Given the description of an element on the screen output the (x, y) to click on. 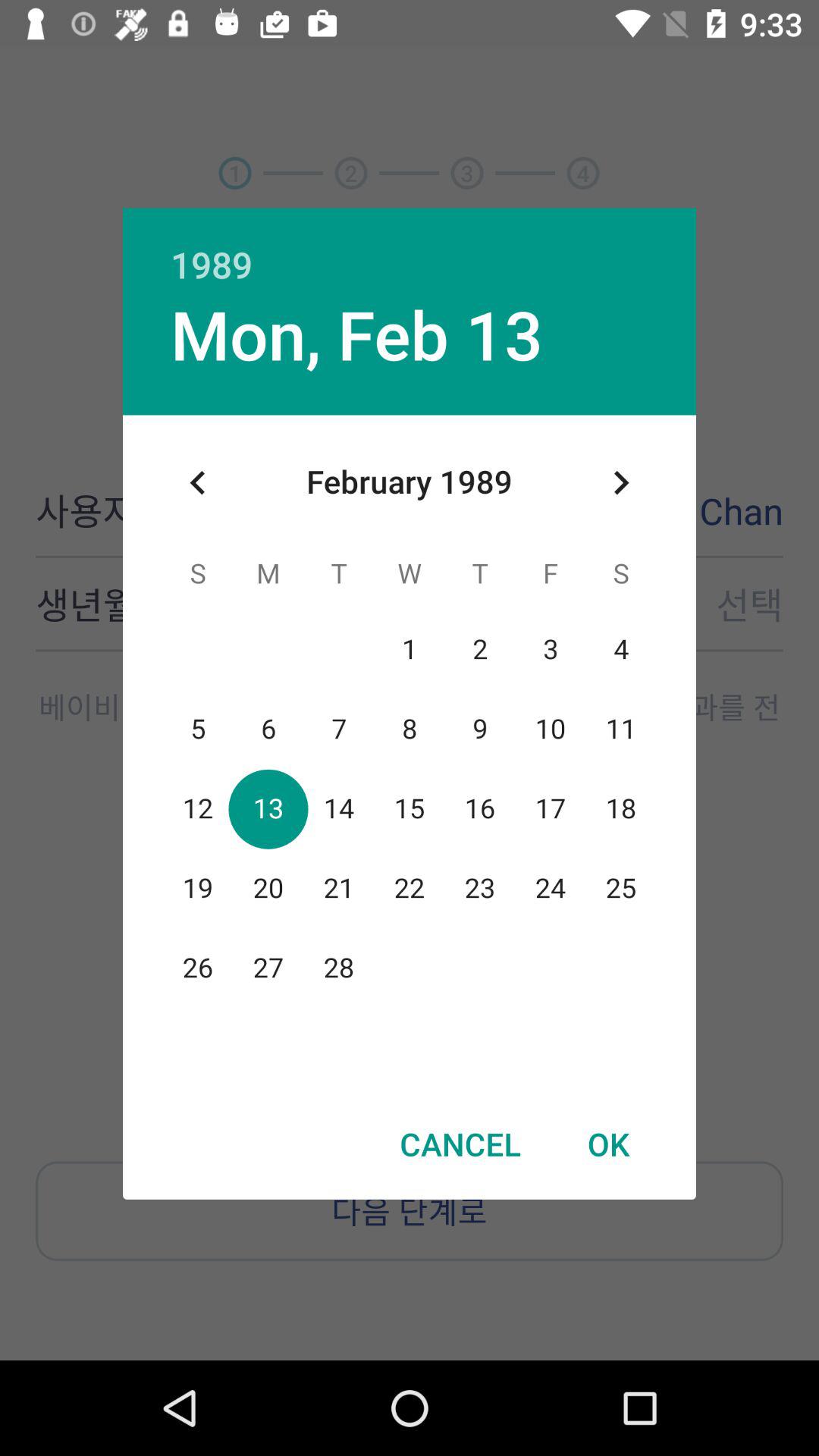
select item below mon, feb 13 (197, 482)
